Given the description of an element on the screen output the (x, y) to click on. 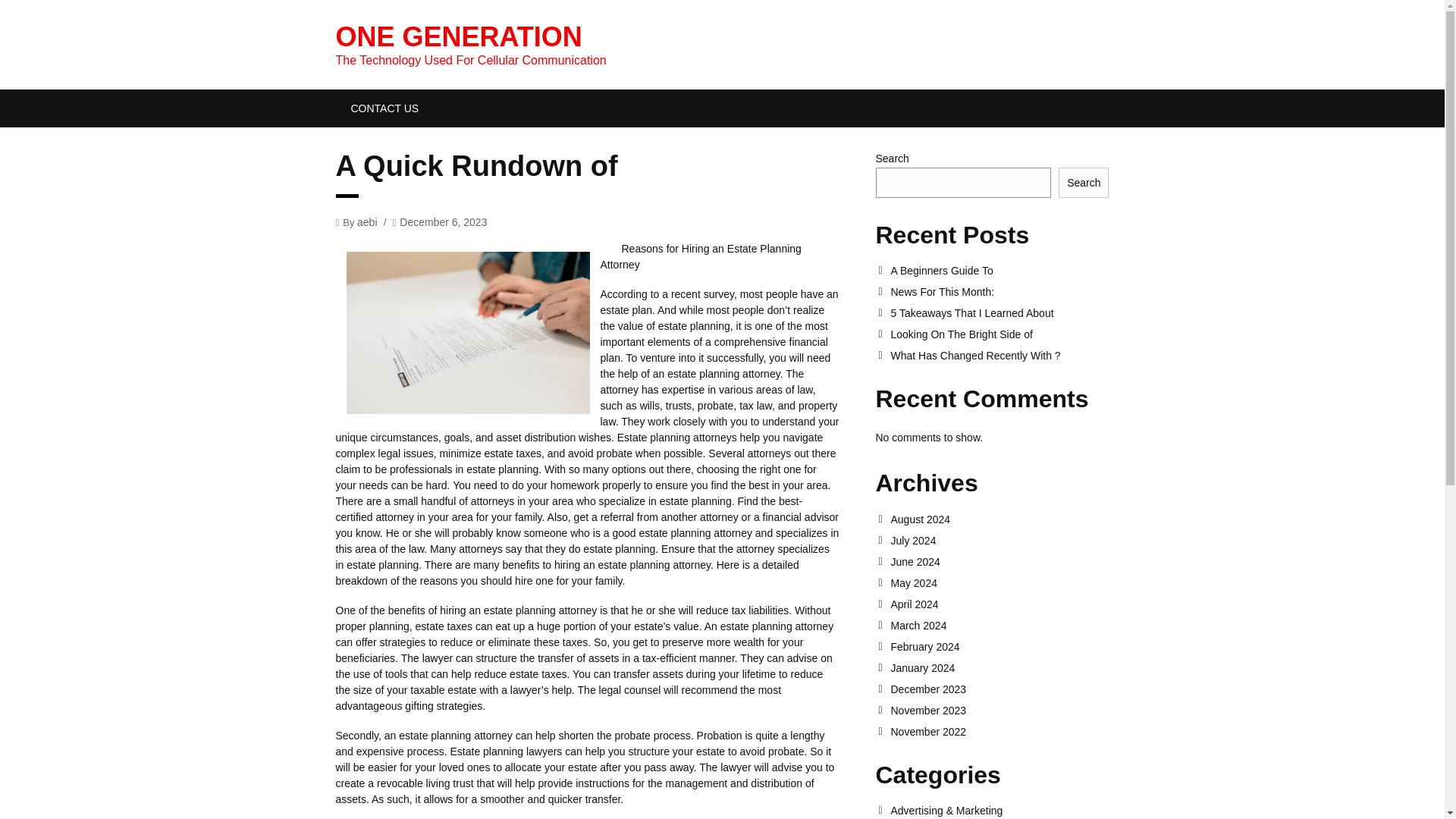
December 2023 (998, 689)
What Has Changed Recently With ? (998, 355)
June 2024 (998, 562)
CONTACT US (383, 108)
December 6, 2023 (442, 221)
November 2022 (998, 731)
Looking On The Bright Side of (998, 334)
Search (1083, 182)
March 2024 (998, 625)
February 2024 (998, 646)
